Given the description of an element on the screen output the (x, y) to click on. 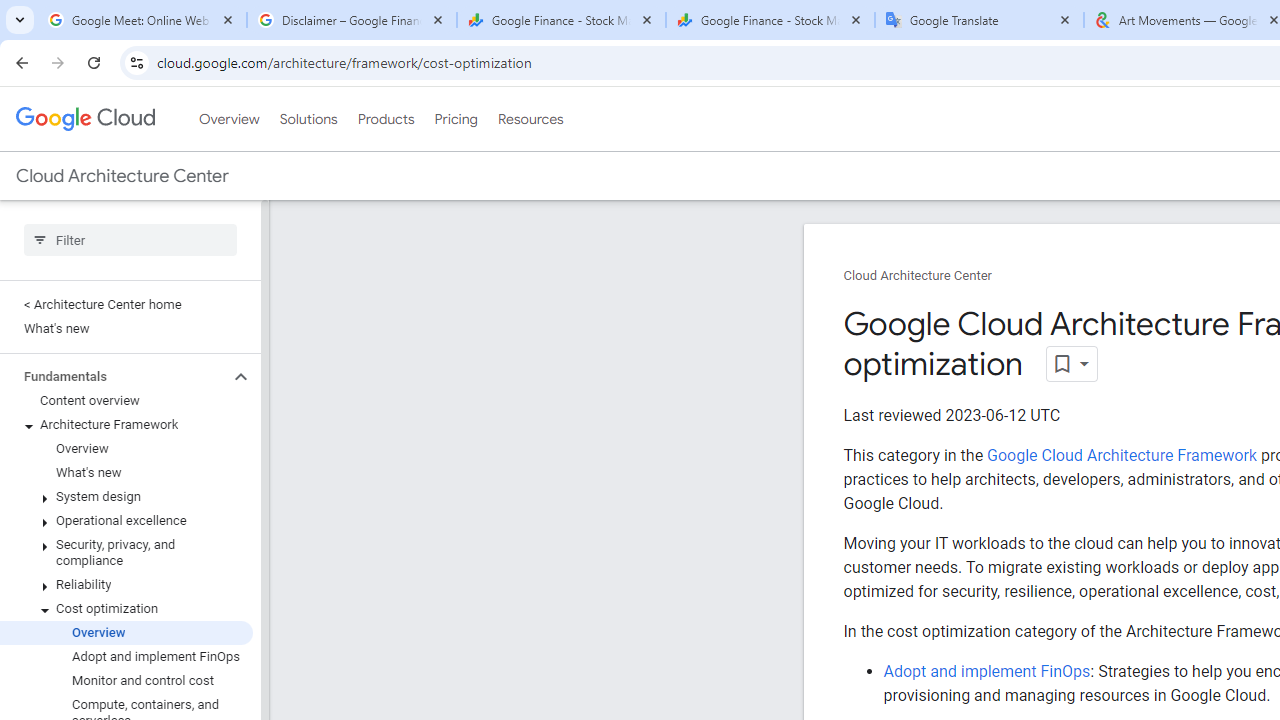
Google Cloud (84, 118)
What's new (126, 472)
Pricing (455, 119)
Monitor and control cost (126, 680)
Resources (530, 119)
